Given the description of an element on the screen output the (x, y) to click on. 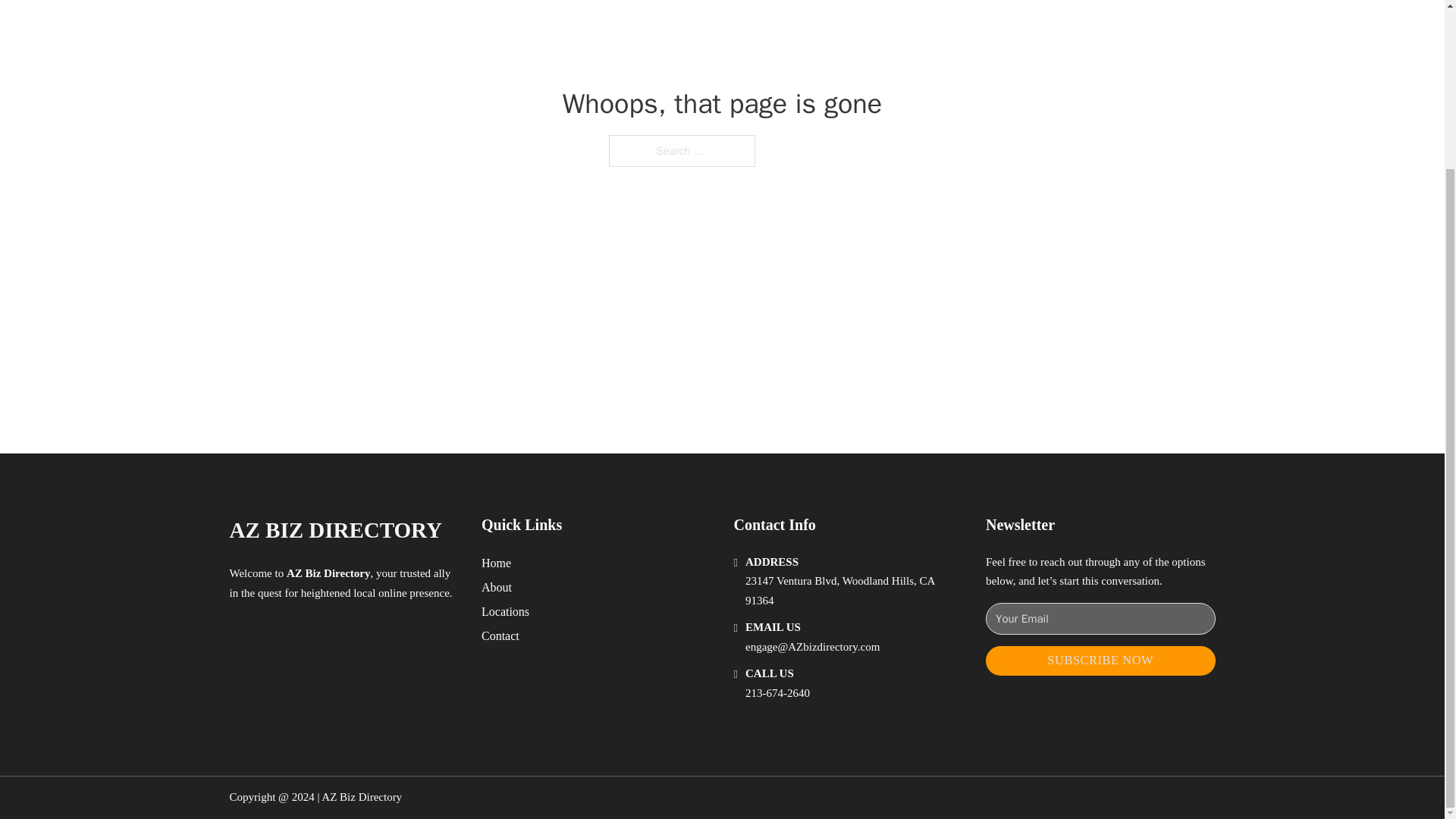
About (496, 587)
Home (496, 562)
213-674-2640 (777, 693)
Locations (505, 611)
Contact (500, 635)
AZ BIZ DIRECTORY (334, 529)
SUBSCRIBE NOW (1100, 660)
